Given the description of an element on the screen output the (x, y) to click on. 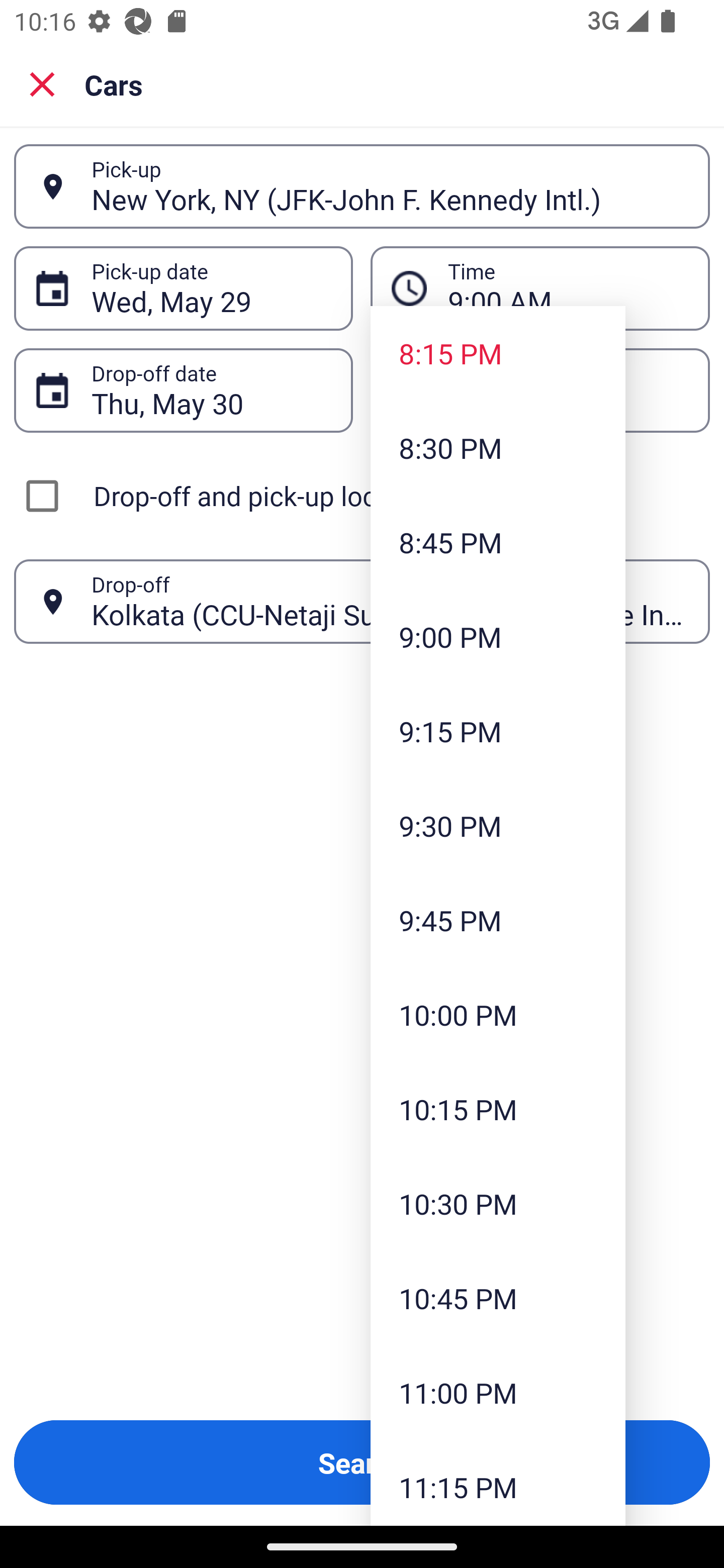
8:15 PM (497, 352)
8:30 PM (497, 447)
8:45 PM (497, 542)
9:00 PM (497, 636)
9:15 PM (497, 730)
9:30 PM (497, 825)
9:45 PM (497, 920)
10:00 PM (497, 1014)
10:15 PM (497, 1109)
10:30 PM (497, 1204)
10:45 PM (497, 1298)
11:00 PM (497, 1392)
11:15 PM (497, 1482)
